Given the description of an element on the screen output the (x, y) to click on. 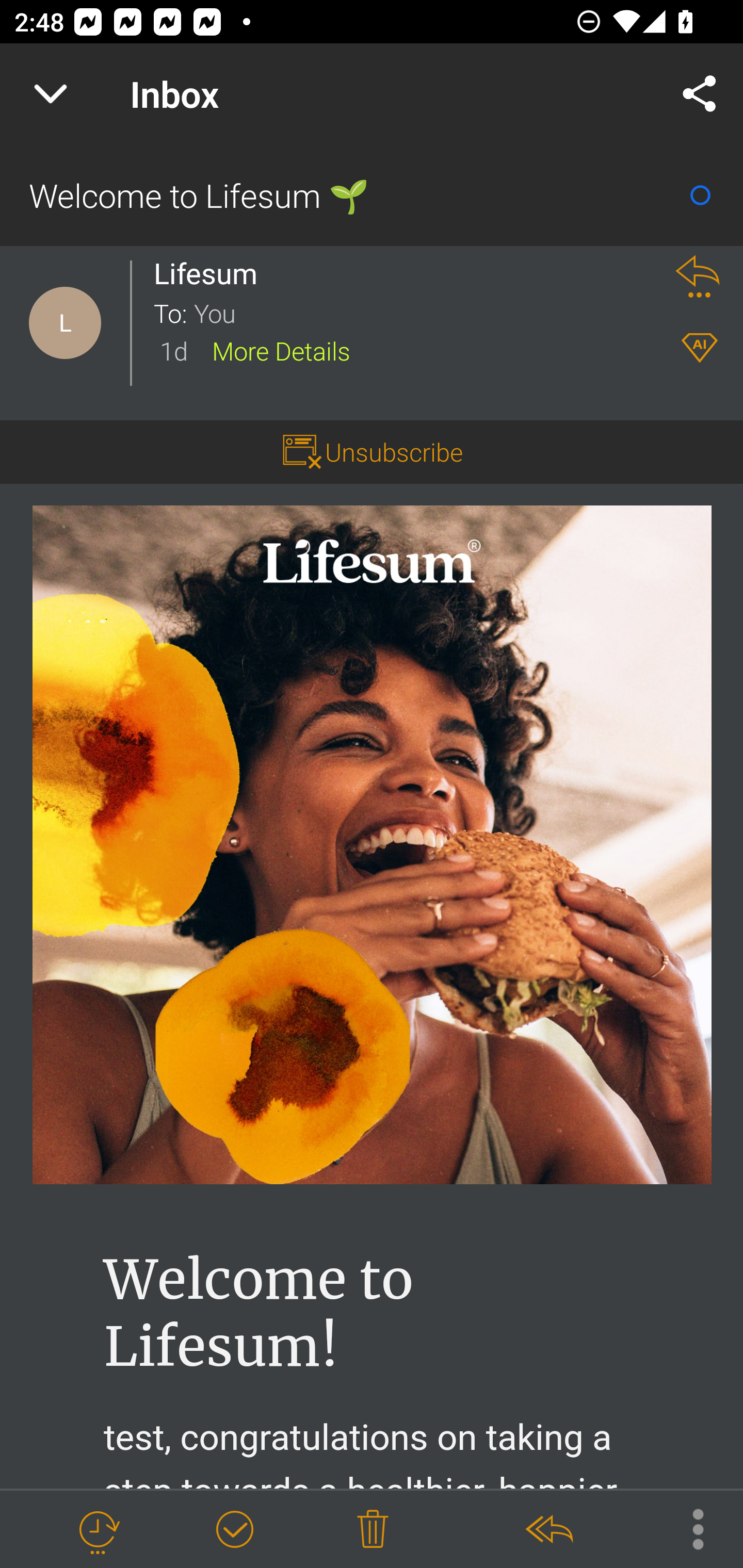
Navigate up (50, 93)
Share (699, 93)
Mark as Read (699, 194)
Lifesum (210, 273)
Contact Details (64, 322)
More Details (280, 349)
Unsubscribe (393, 451)
More Options (687, 1528)
Snooze (97, 1529)
Mark as Done (234, 1529)
Delete (372, 1529)
Reply All (548, 1529)
